Given the description of an element on the screen output the (x, y) to click on. 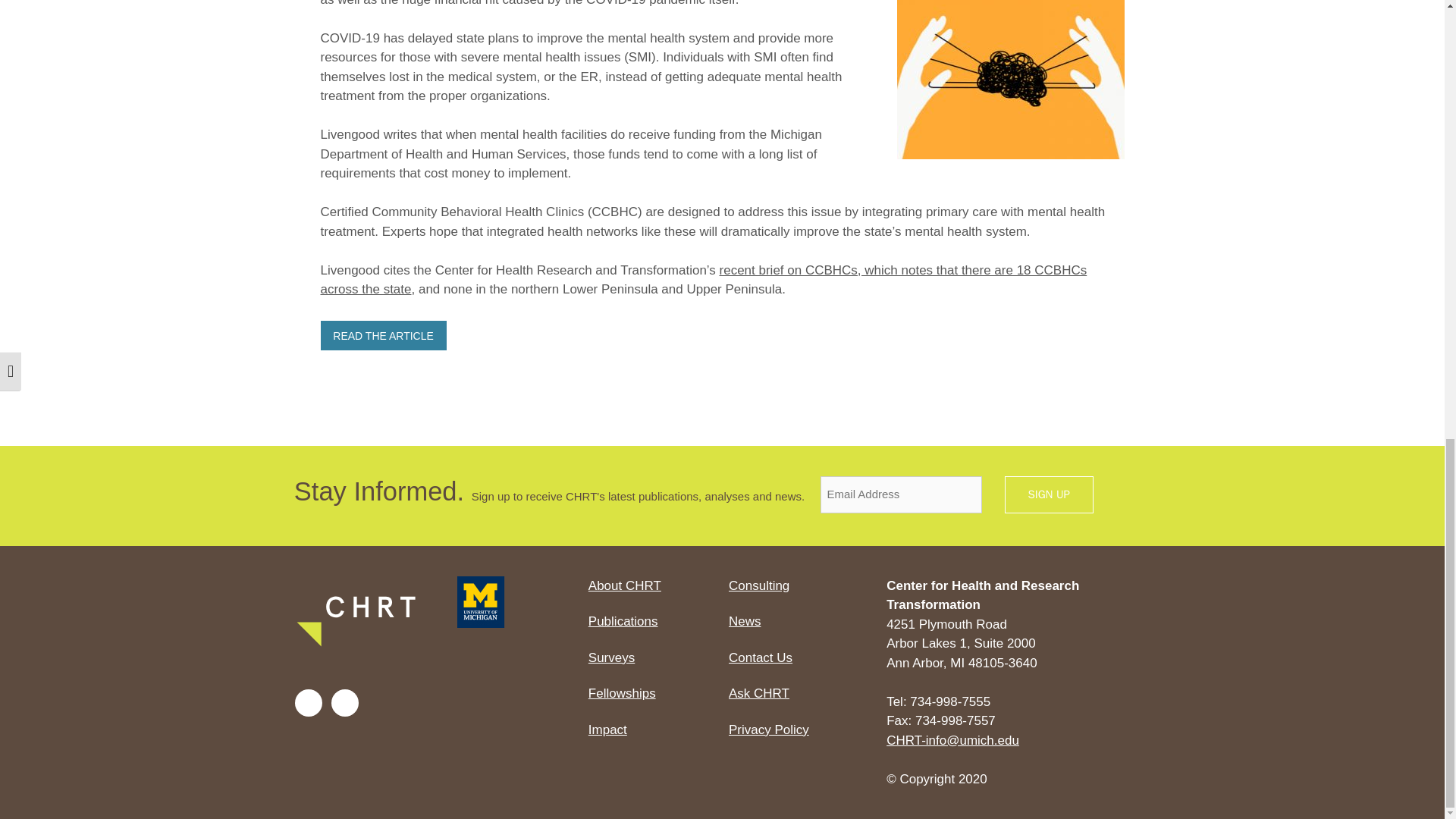
Scroll back to top (1406, 587)
Sign Up (1048, 494)
